Given the description of an element on the screen output the (x, y) to click on. 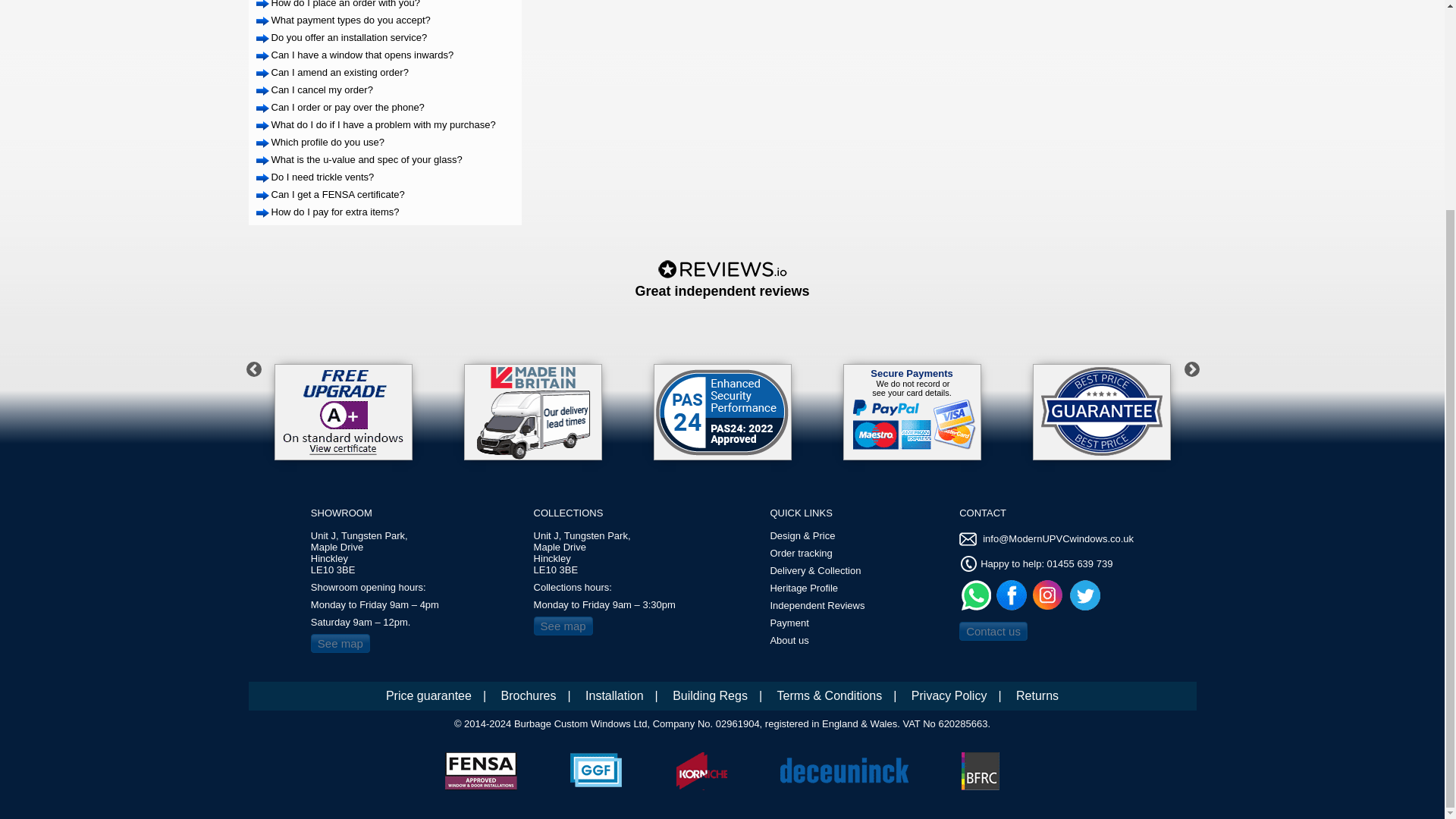
See us on Instagram (1049, 593)
WhatsApp us (975, 593)
Follow us on Twitter (1086, 593)
See us on Facebook (1012, 593)
